Given the description of an element on the screen output the (x, y) to click on. 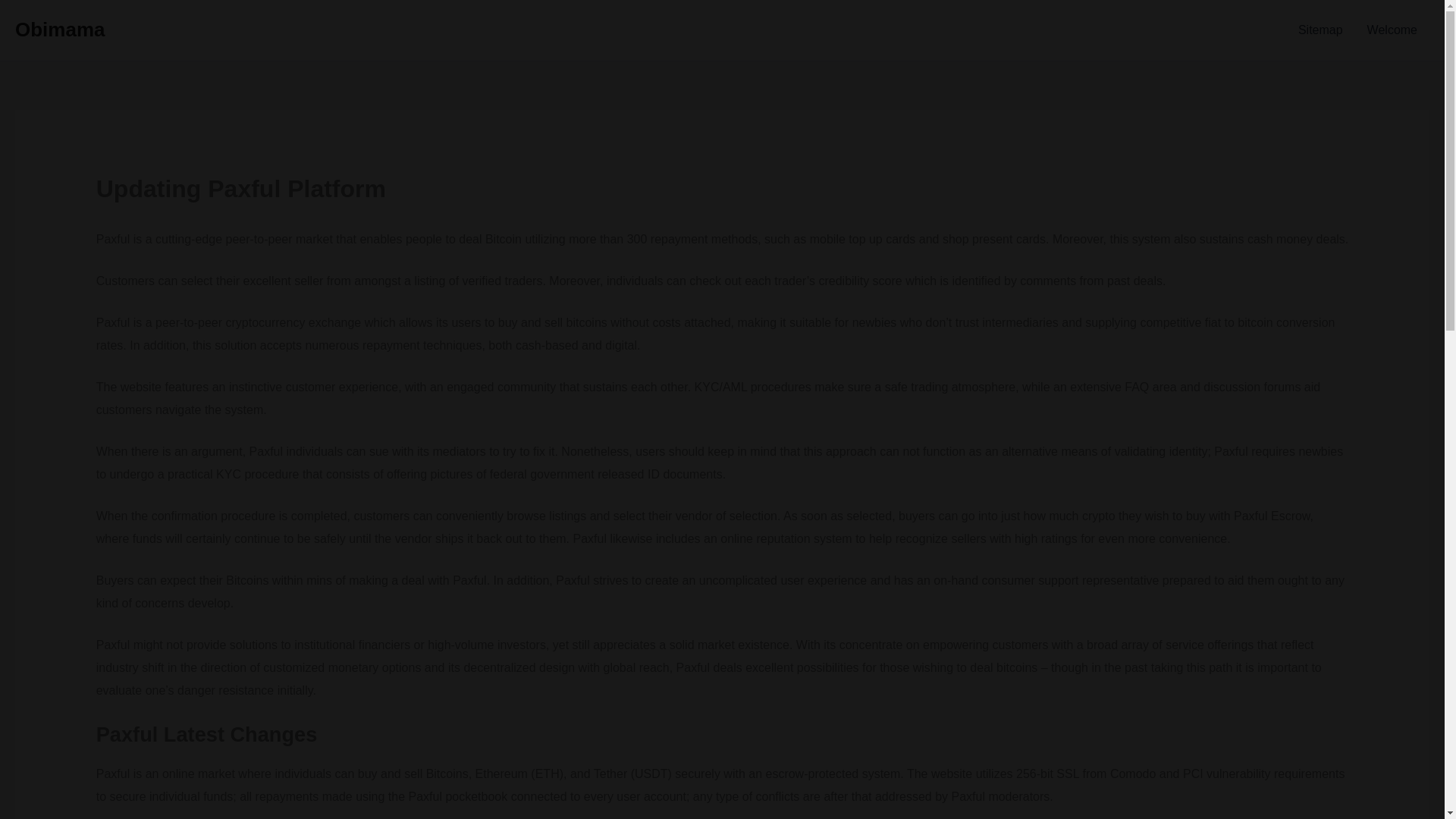
Obimama (59, 29)
Sitemap (1320, 30)
Welcome (1392, 30)
